Given the description of an element on the screen output the (x, y) to click on. 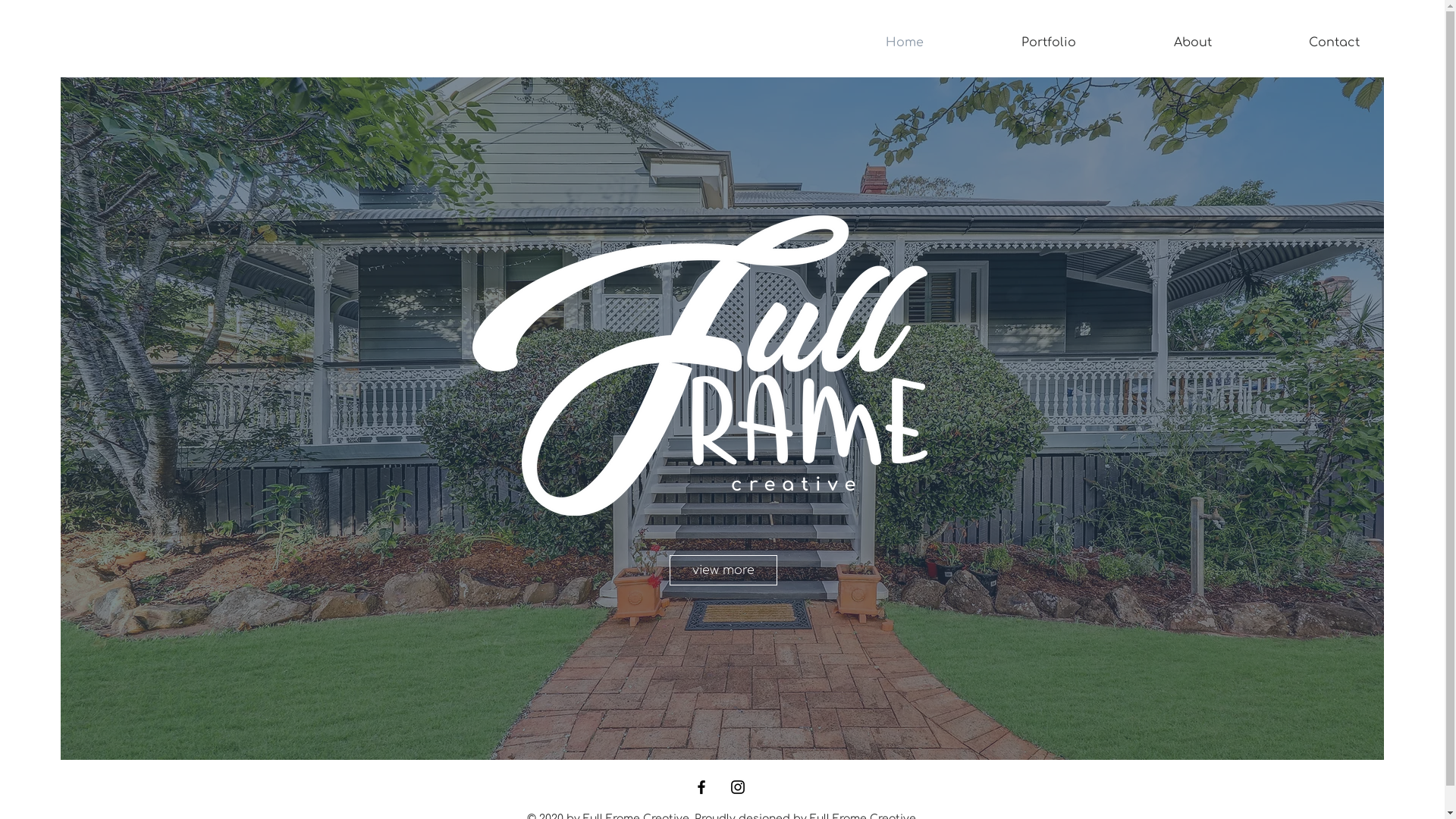
view more Element type: text (722, 570)
Portfolio Element type: text (1048, 42)
Home Element type: text (904, 42)
About Element type: text (1192, 42)
Contact Element type: text (1334, 42)
